Given the description of an element on the screen output the (x, y) to click on. 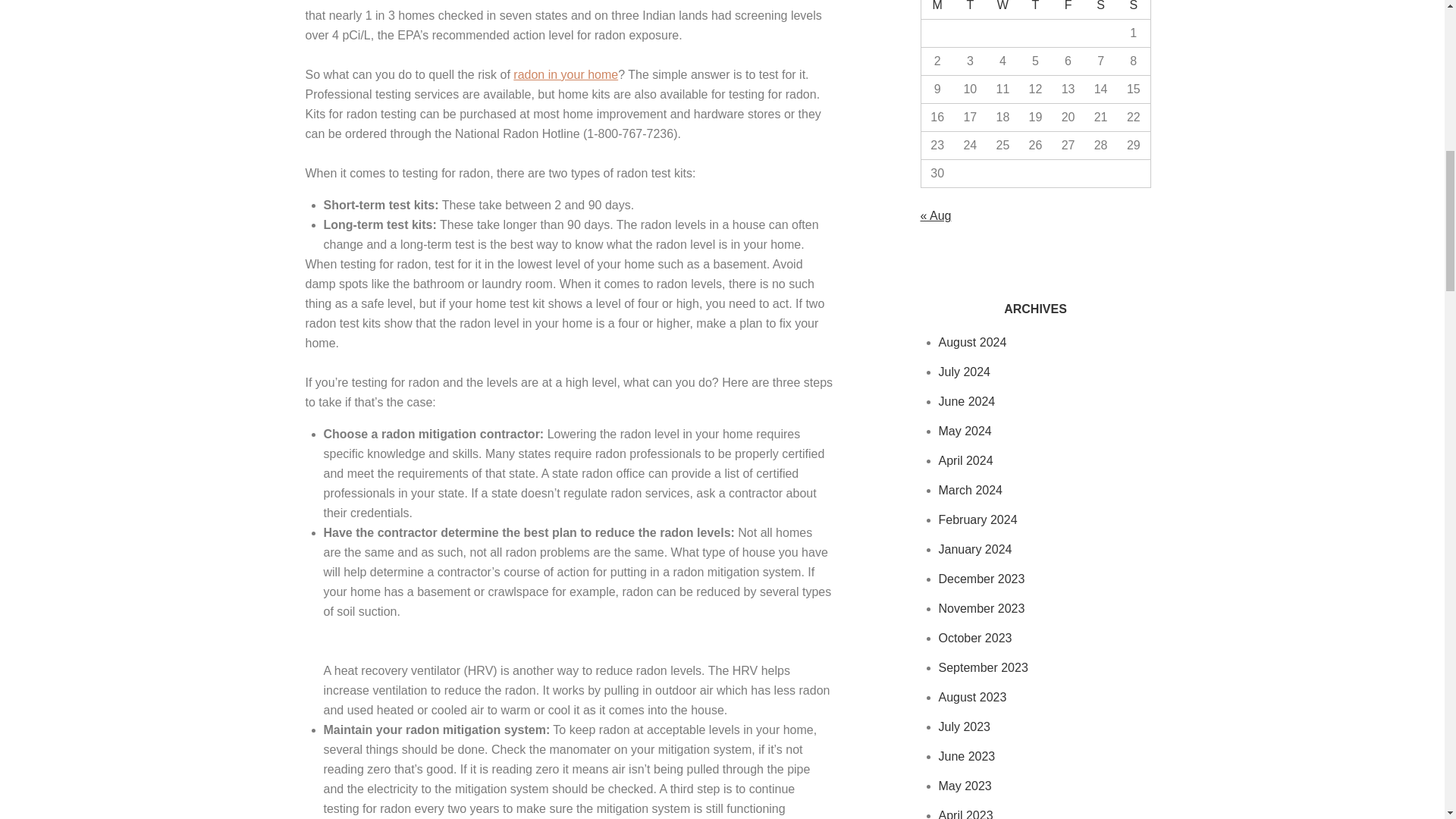
Saturday (1100, 9)
April 2024 (965, 460)
radon in your home (565, 74)
January 2024 (975, 549)
May 2023 (965, 785)
December 2023 (982, 578)
Radon mitigation company (565, 74)
October 2023 (975, 637)
July 2024 (965, 371)
Thursday (1035, 9)
